Given the description of an element on the screen output the (x, y) to click on. 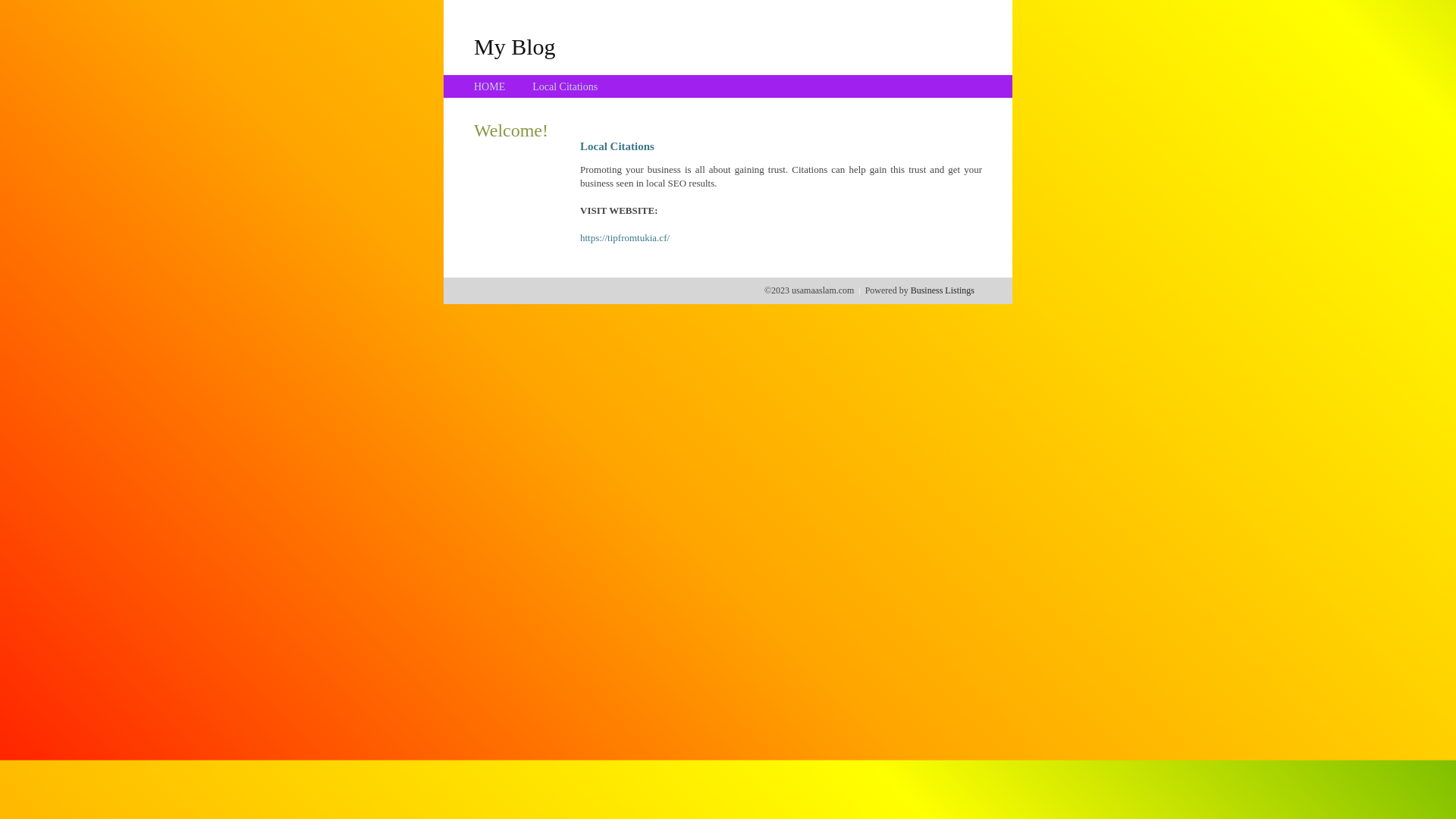
https://tipfromtukia.cf/ Element type: text (624, 237)
Local Citations Element type: text (564, 86)
Business Listings Element type: text (942, 290)
My Blog Element type: text (514, 46)
HOME Element type: text (489, 86)
